Given the description of an element on the screen output the (x, y) to click on. 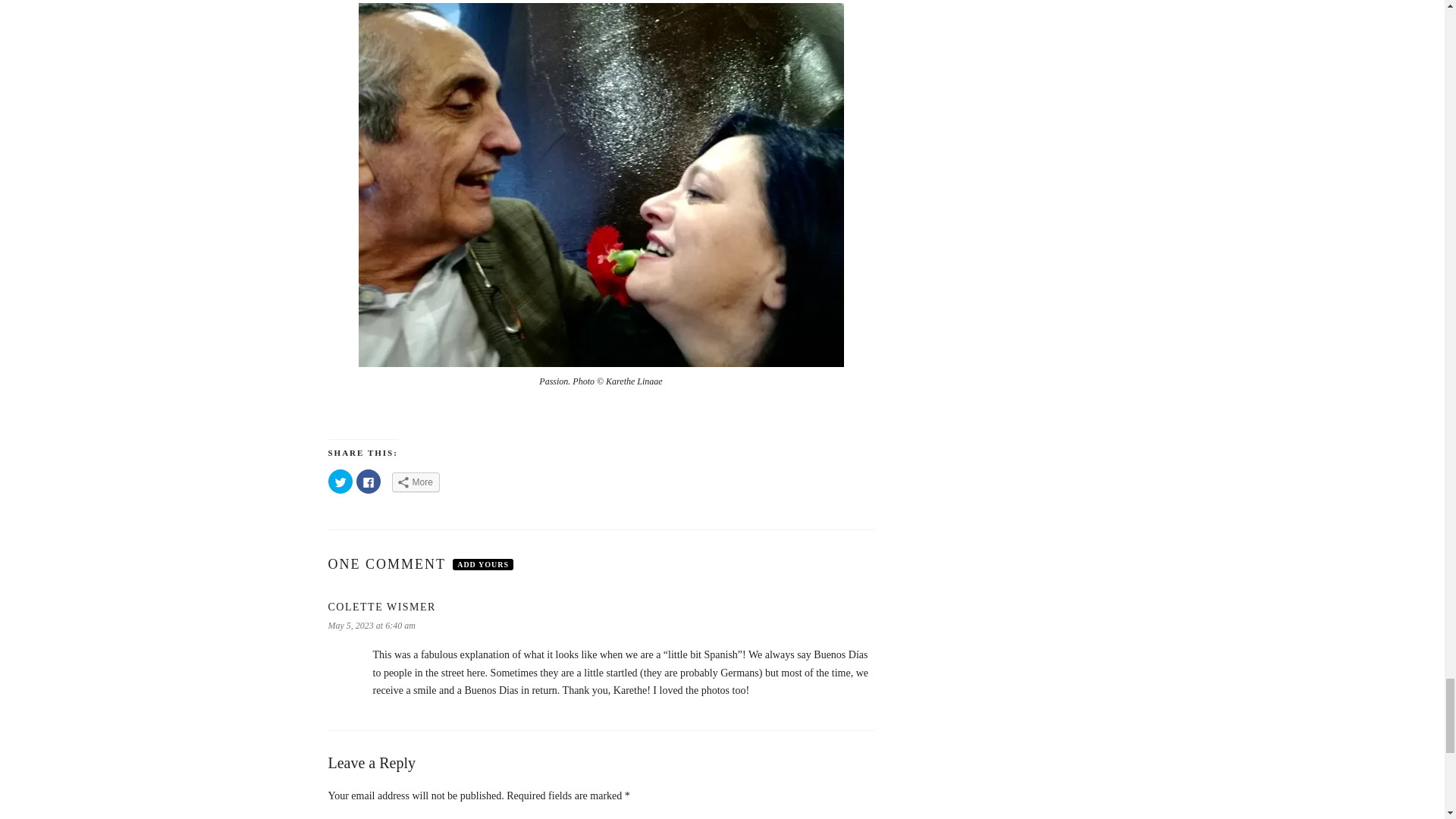
More (415, 482)
ADD YOURS (482, 564)
May 5, 2023 at 6:40 am (370, 624)
